Given the description of an element on the screen output the (x, y) to click on. 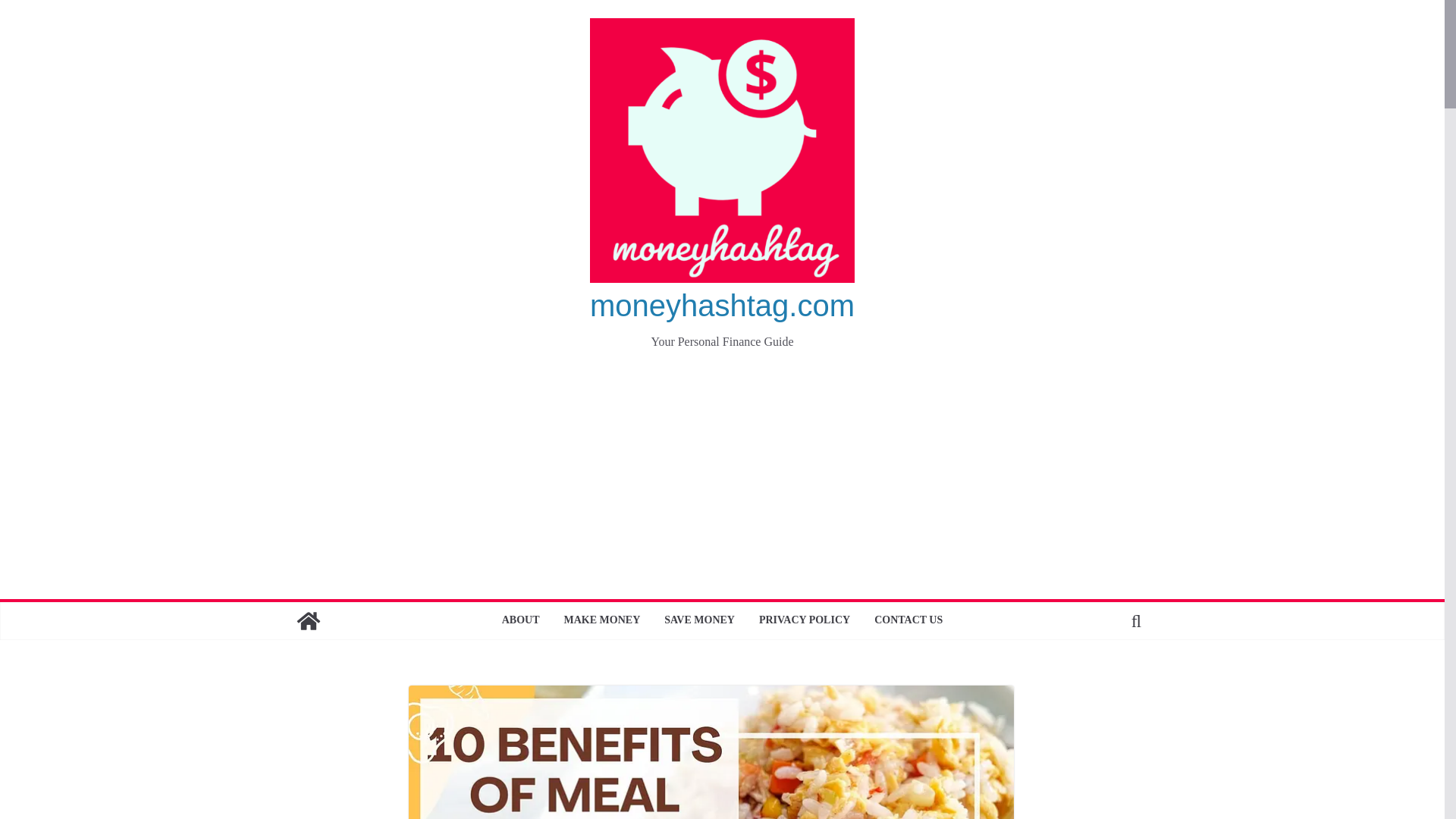
moneyhashtag.com (721, 305)
MAKE MONEY (602, 620)
CONTACT US (908, 620)
PRIVACY POLICY (804, 620)
ABOUT (521, 620)
moneyhashtag.com (307, 620)
moneyhashtag.com (721, 305)
SAVE MONEY (699, 620)
